Given the description of an element on the screen output the (x, y) to click on. 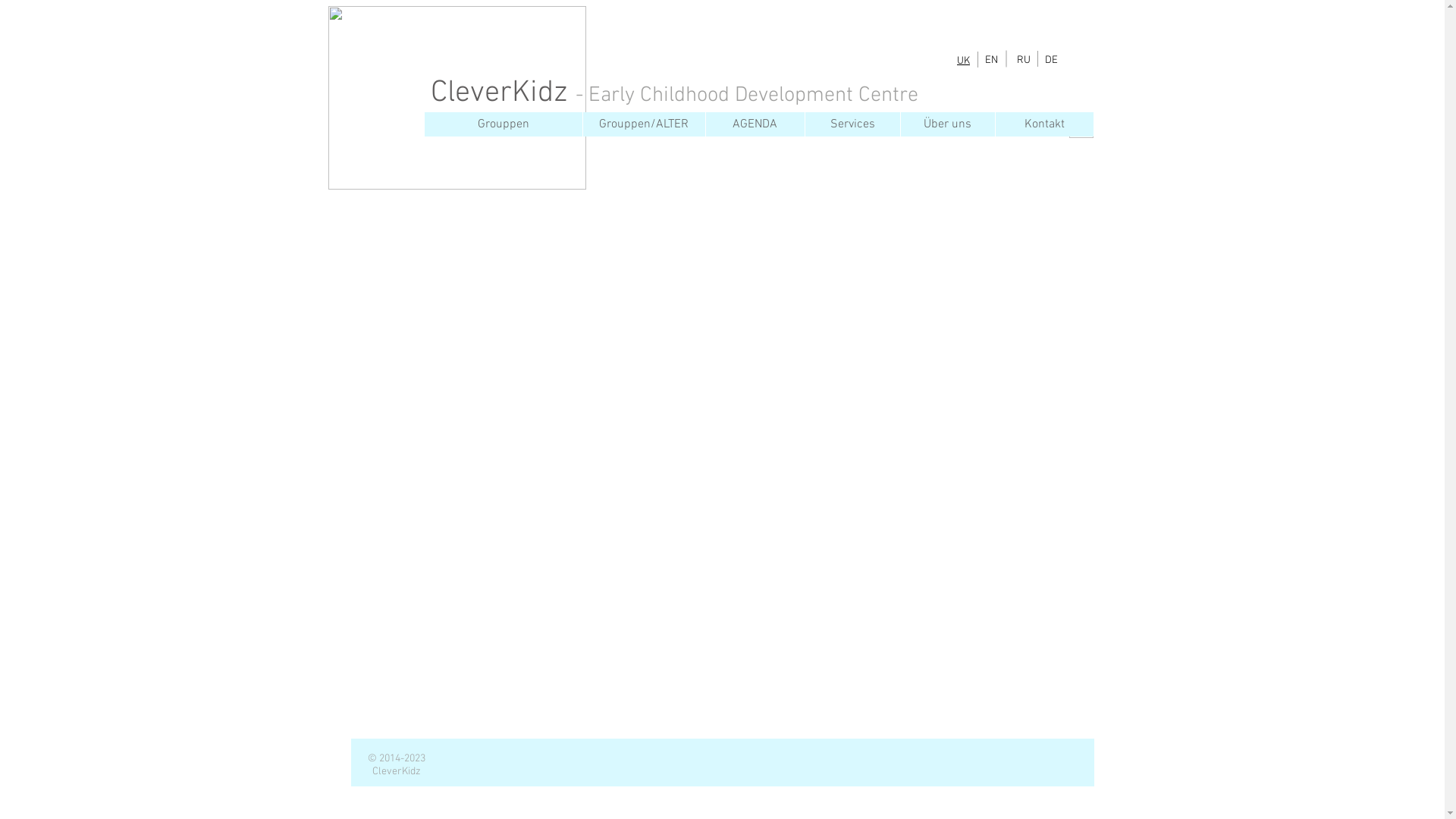
Grouppen Element type: text (503, 124)
Kontakt Element type: text (1043, 124)
CleverKidz - Early Childhood Development  Element type: text (644, 93)
AGENDA Element type: text (754, 124)
DE Element type: text (1050, 59)
Services Element type: text (852, 124)
UK Element type: text (963, 60)
Grouppen/ALTER Element type: text (643, 124)
RU Element type: text (1022, 59)
EN Element type: text (991, 59)
